Given the description of an element on the screen output the (x, y) to click on. 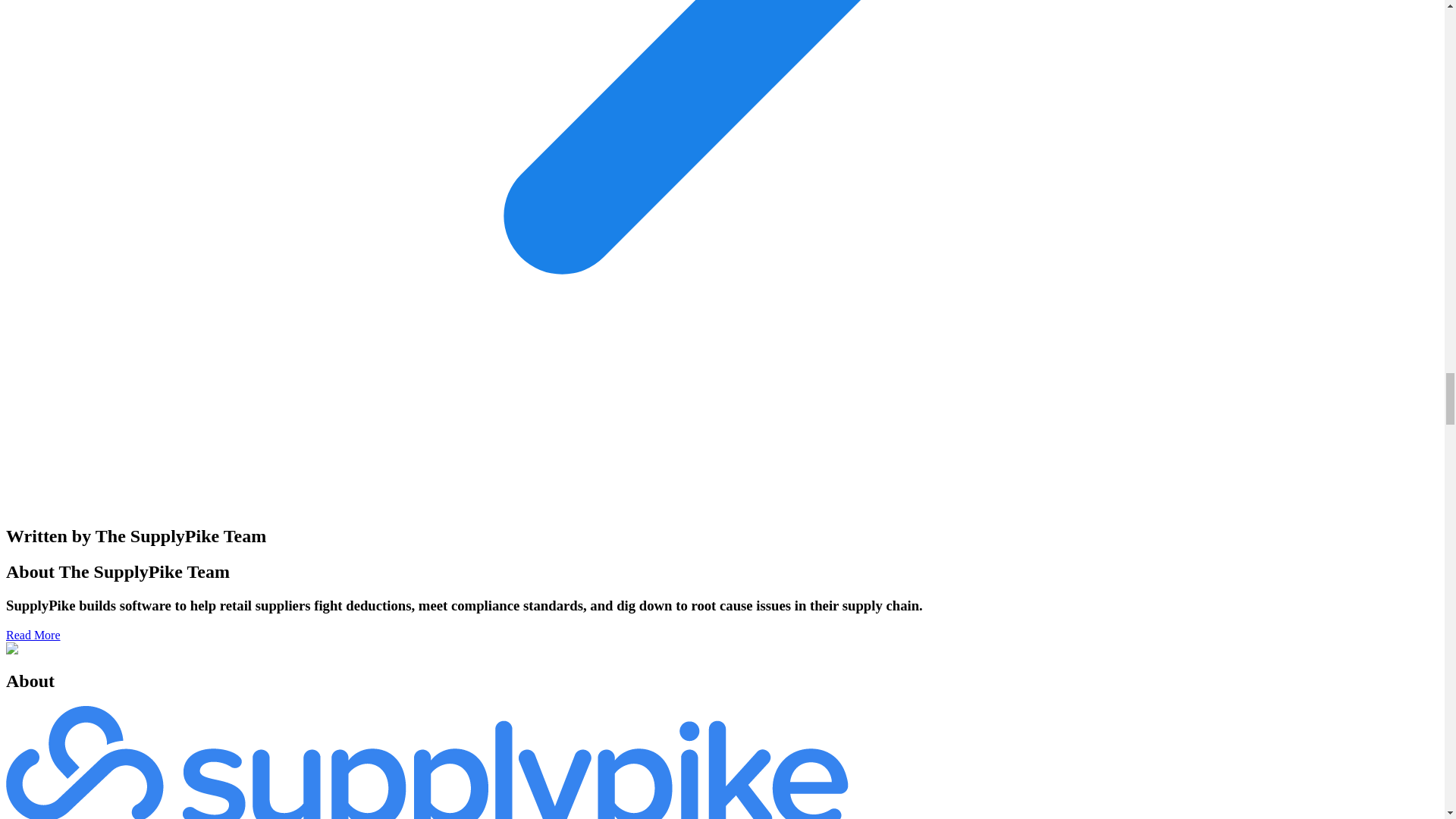
Read More (33, 634)
